Given the description of an element on the screen output the (x, y) to click on. 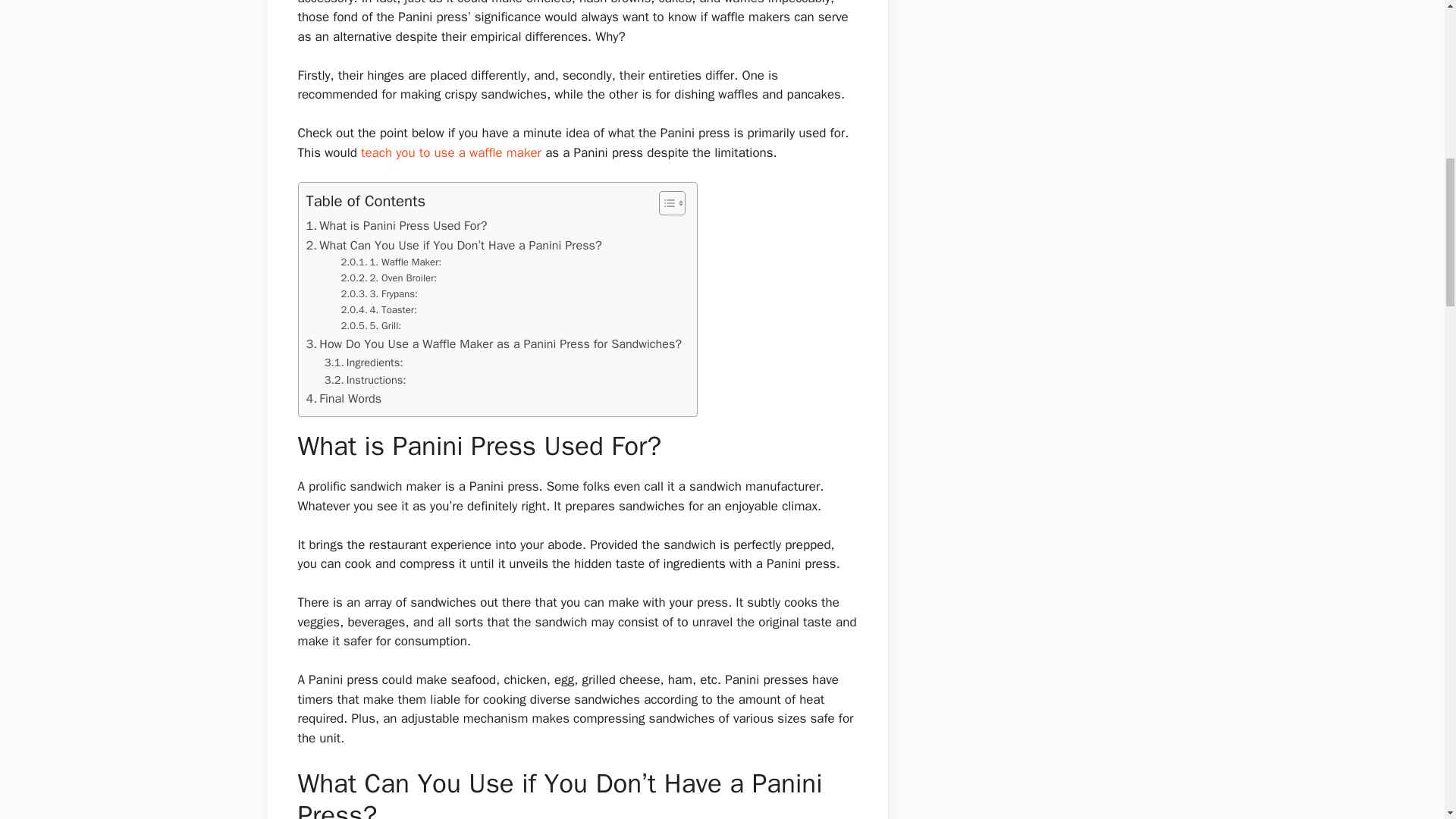
teach you to use a waffle maker (451, 152)
Instructions: (365, 380)
Ingredients: (363, 362)
3. Frypans:  (380, 294)
1. Waffle Maker: (391, 262)
Instructions: (365, 380)
1. Waffle Maker: (391, 262)
2. Oven Broiler:  (390, 278)
What is Panini Press Used For? (396, 225)
Final Words (343, 398)
Final Words (343, 398)
